Given the description of an element on the screen output the (x, y) to click on. 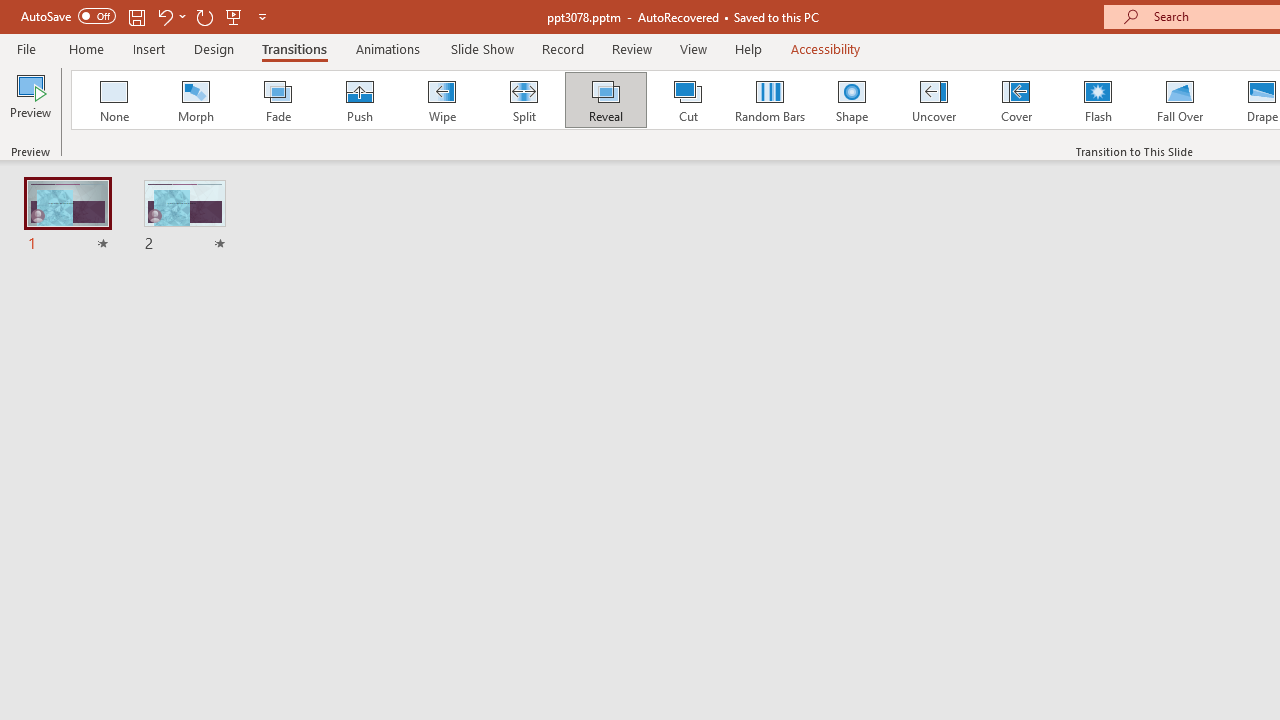
Cover (1016, 100)
Reveal (605, 100)
